Given the description of an element on the screen output the (x, y) to click on. 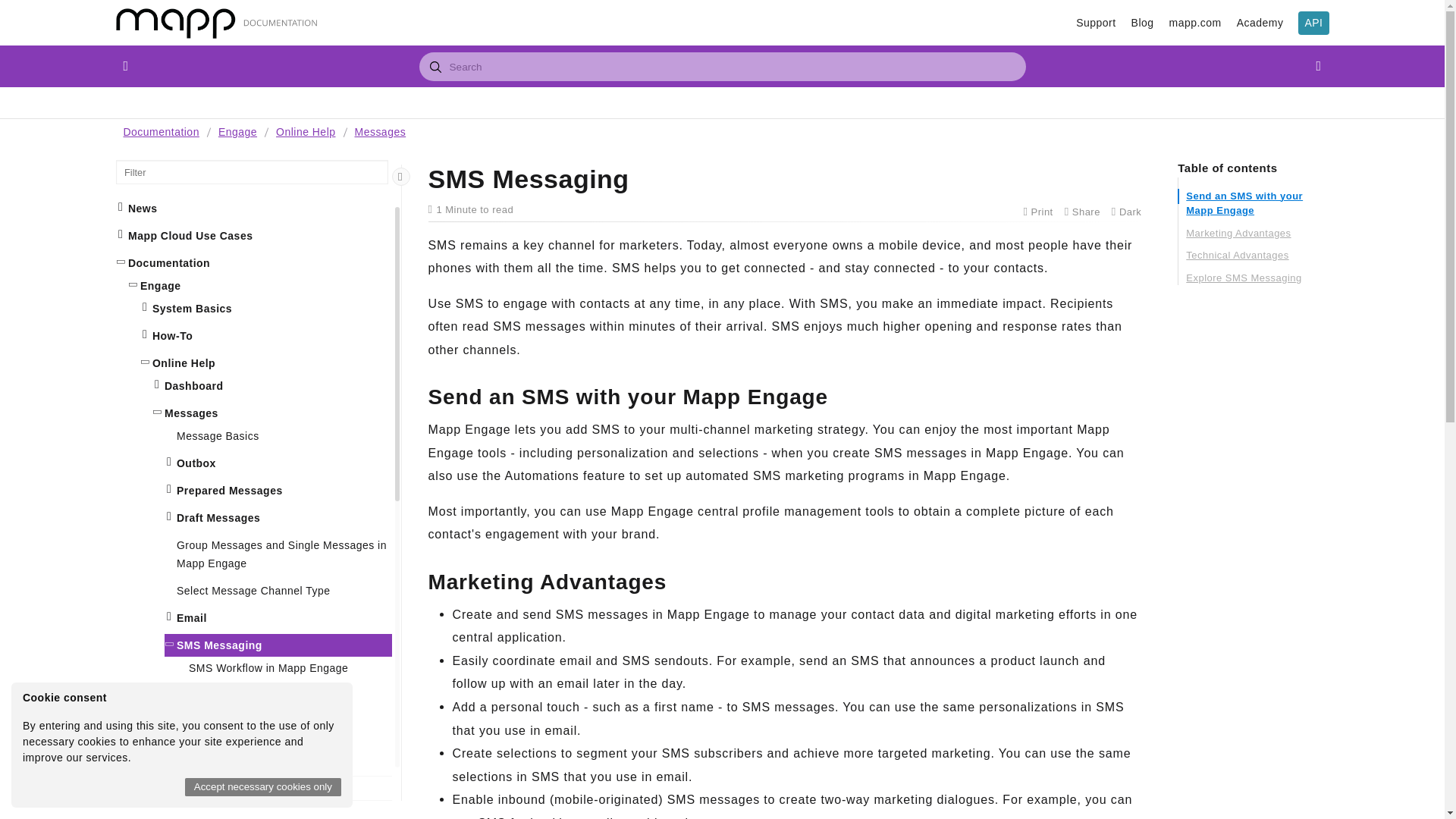
Engage (239, 132)
Documentation (160, 132)
Messages (380, 132)
Online Help (305, 132)
Documentation (162, 132)
Academy (1260, 23)
Engage (237, 132)
mapp.com (1195, 23)
API (1312, 22)
Messages (382, 132)
